Given the description of an element on the screen output the (x, y) to click on. 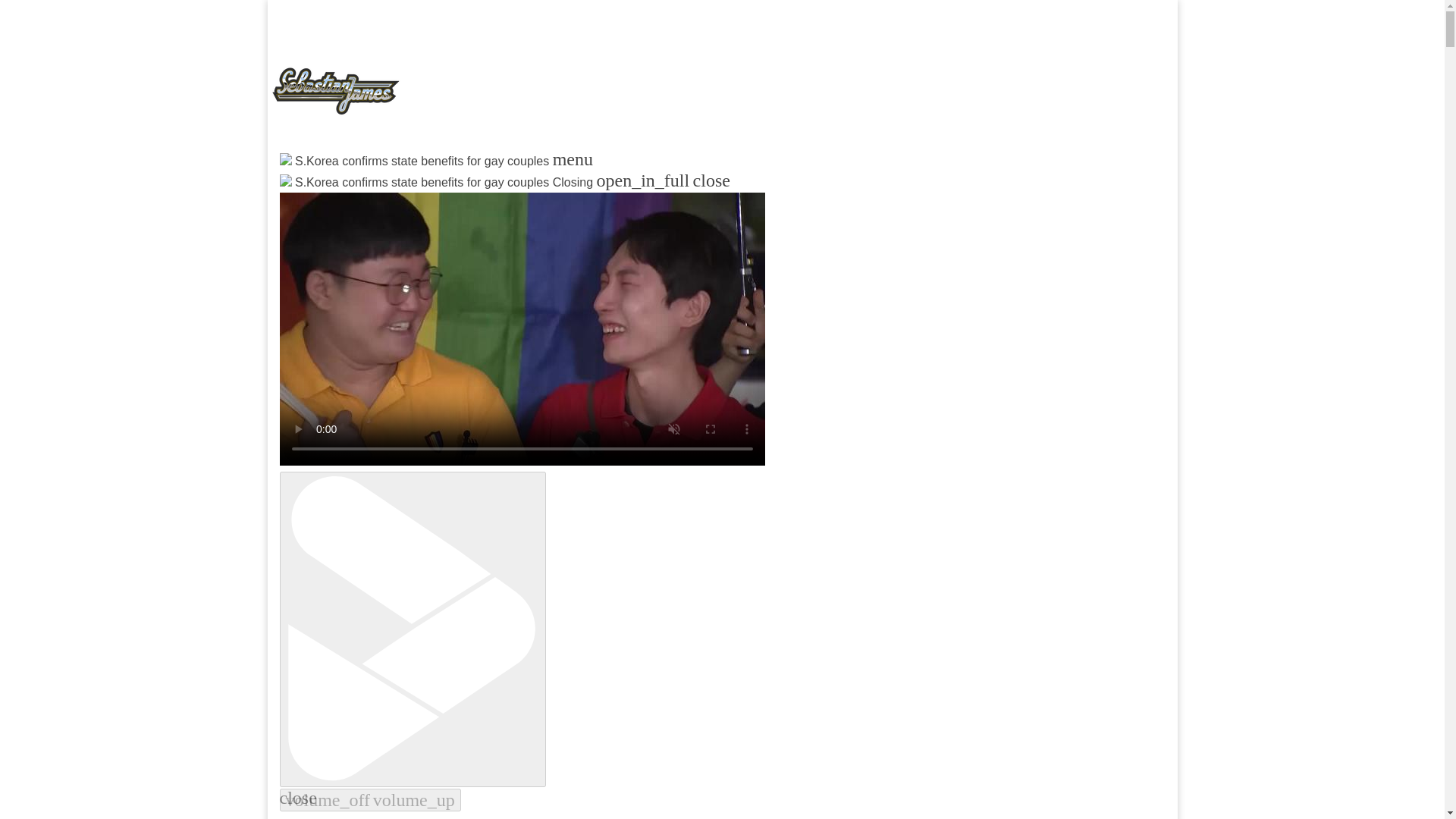
Skope Entertainment Inc (462, 198)
Skope Entertainment Inc (462, 198)
